Given the description of an element on the screen output the (x, y) to click on. 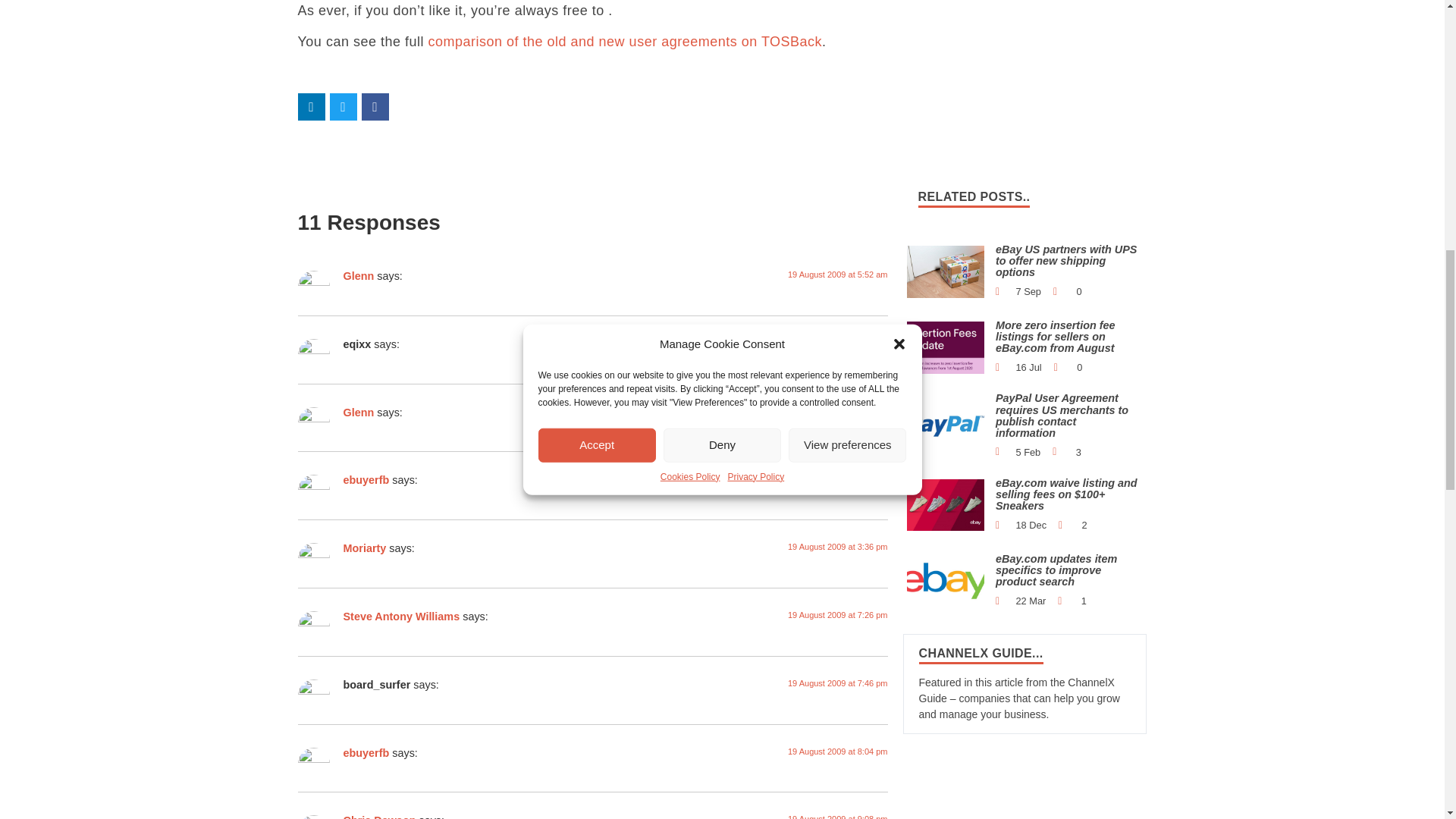
Sneakers-on-eBay (946, 504)
paypal-01-scaled (946, 426)
UPS-EBAY-01-scaled (946, 271)
eBay-Logo (946, 580)
